Given the description of an element on the screen output the (x, y) to click on. 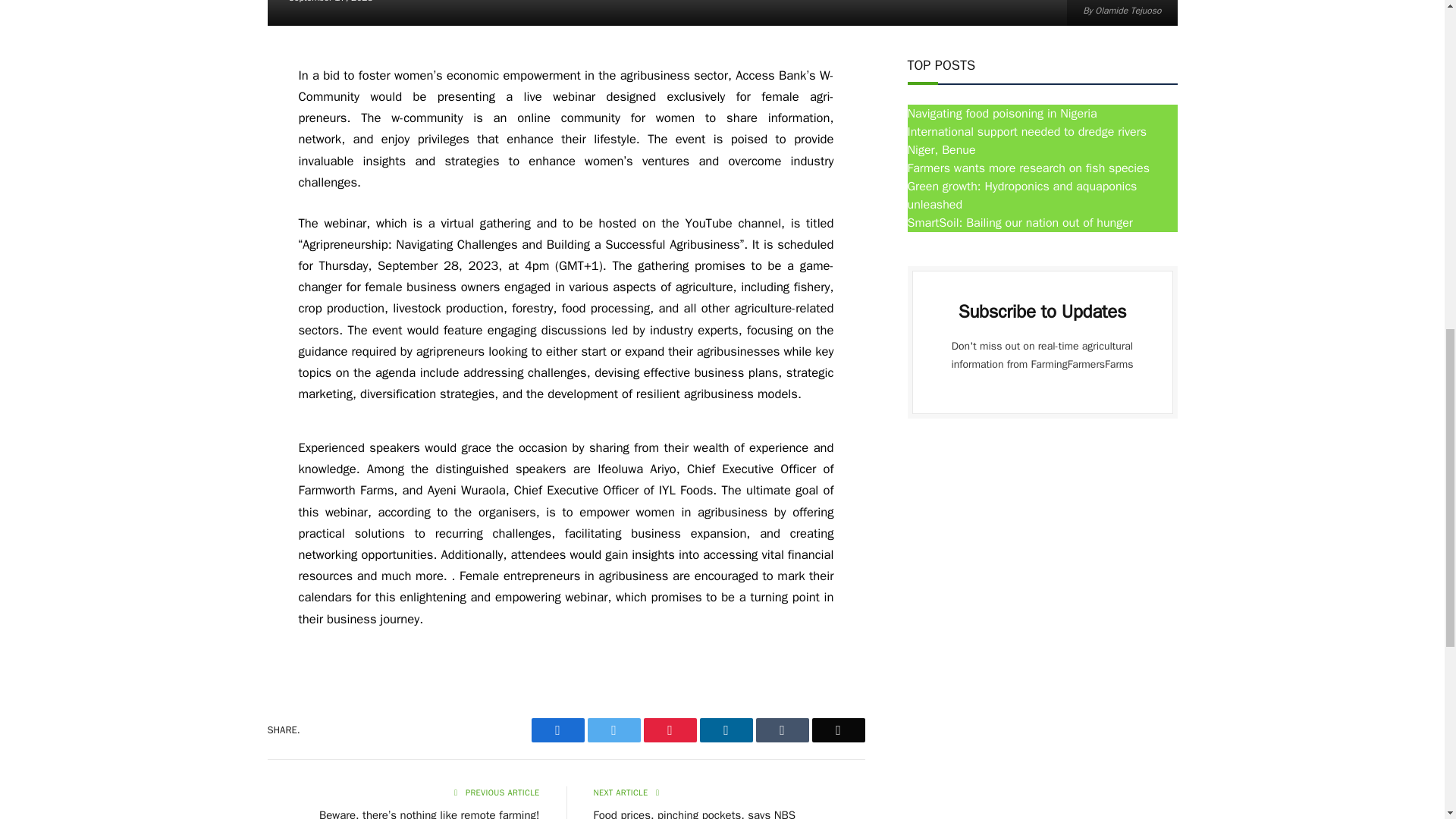
W-community agripreneurship webinar (721, 12)
